Given the description of an element on the screen output the (x, y) to click on. 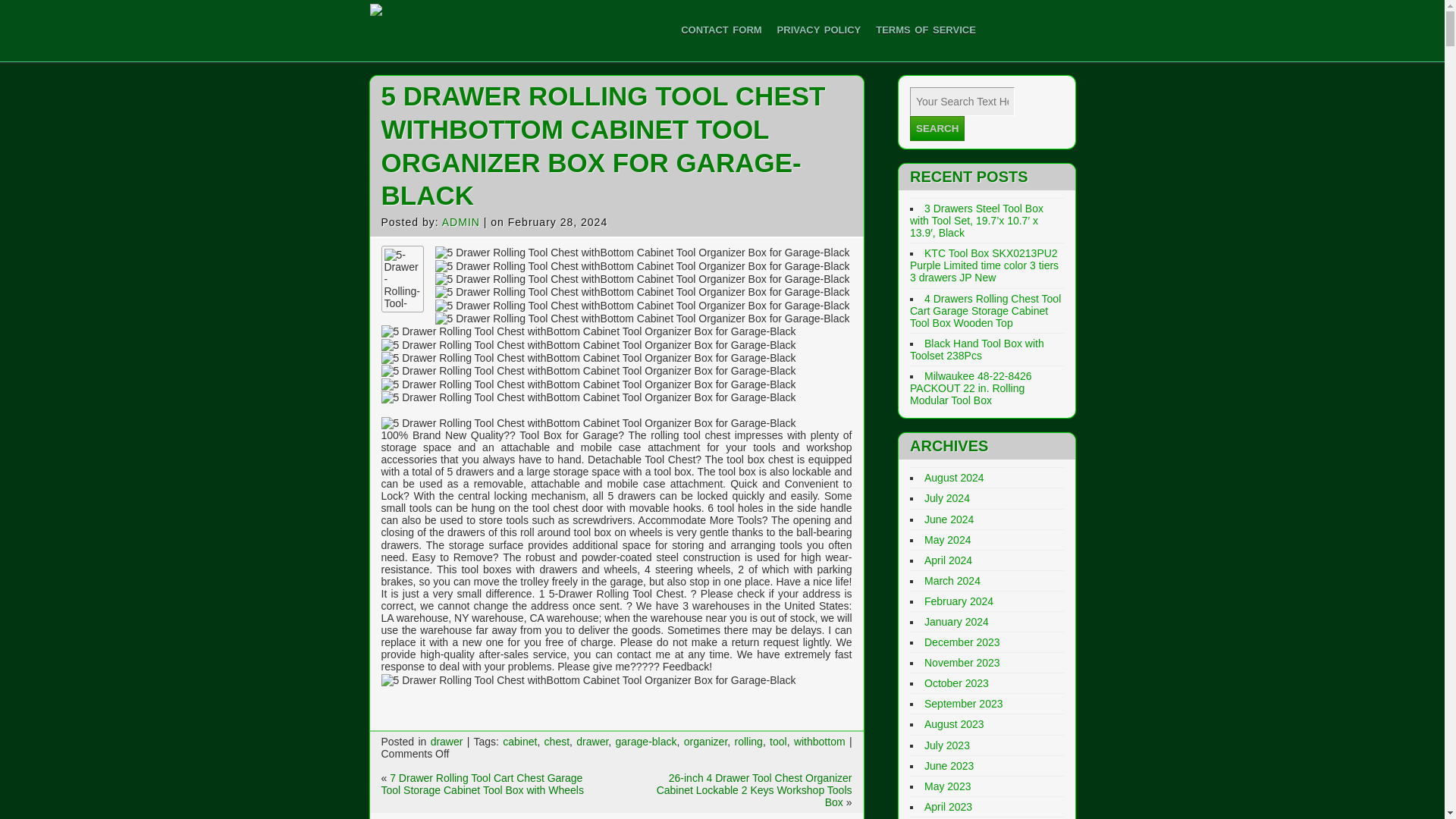
Search (936, 128)
ADMIN (461, 222)
August 2024 (954, 477)
Posts by admin (461, 222)
PRIVACY POLICY (819, 30)
November 2023 (962, 662)
February 2024 (958, 601)
May 2024 (947, 539)
